Given the description of an element on the screen output the (x, y) to click on. 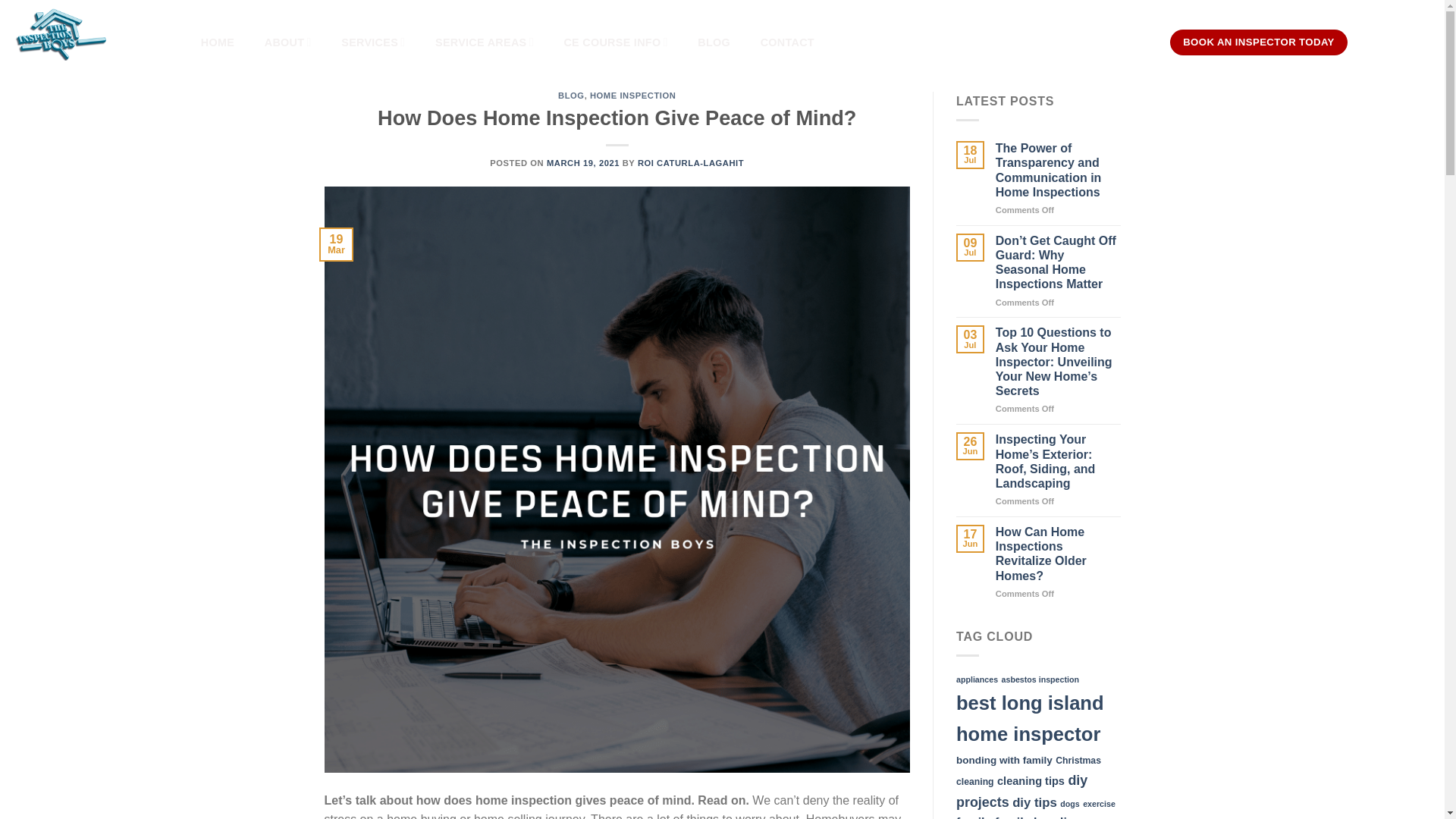
CE COURSE INFO (616, 42)
BLOG (714, 42)
Follow on Facebook (1364, 42)
HOME (217, 42)
Follow on Instagram (1383, 42)
SERVICES (373, 42)
How Can Home Inspections Revitalize Older Homes? (1058, 553)
ABOUT (288, 42)
SERVICE AREAS (483, 42)
